Given the description of an element on the screen output the (x, y) to click on. 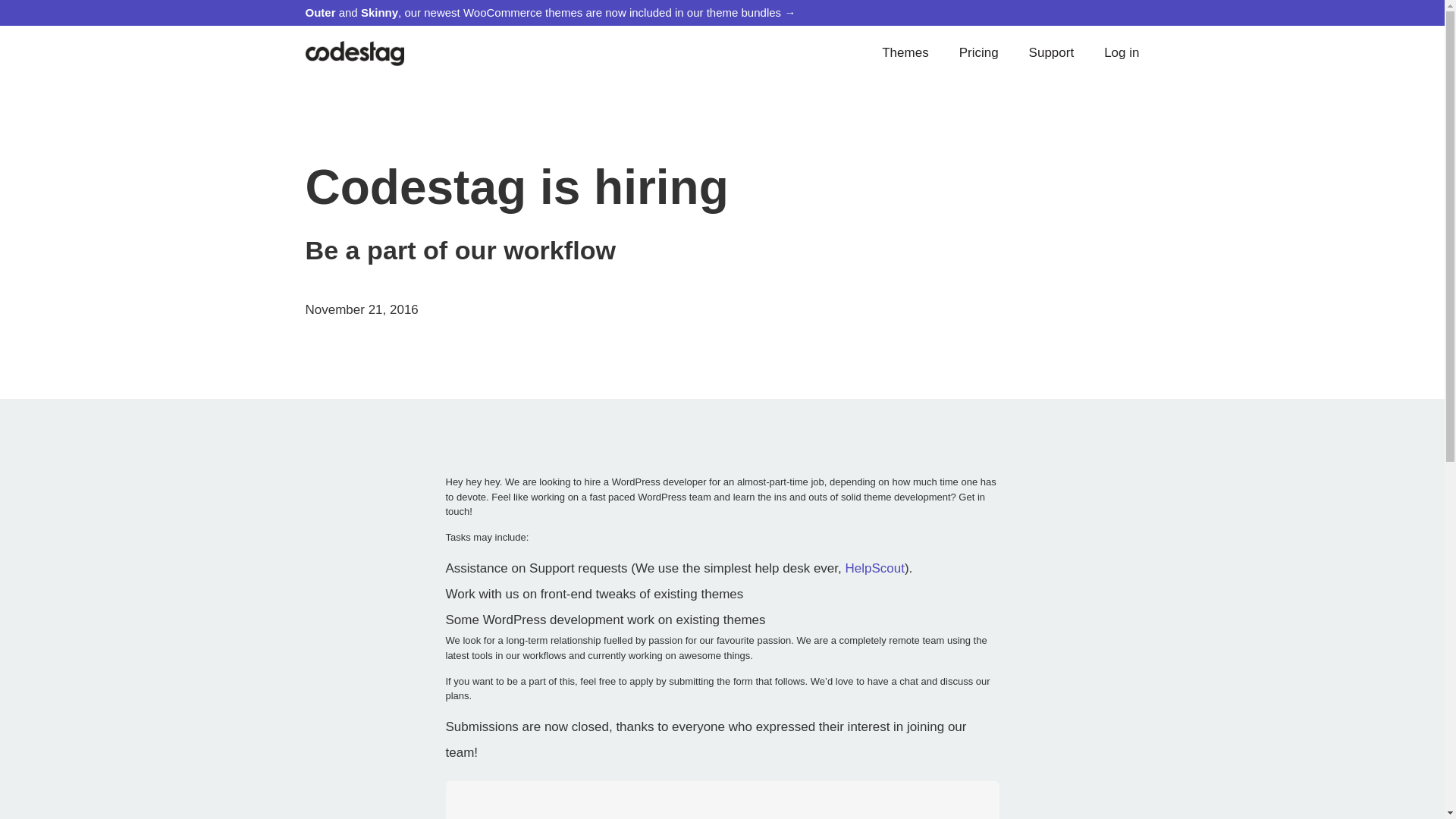
Themes (904, 52)
Pricing (978, 52)
HelpScout (874, 568)
Log in (1121, 52)
Support (1051, 52)
